Given the description of an element on the screen output the (x, y) to click on. 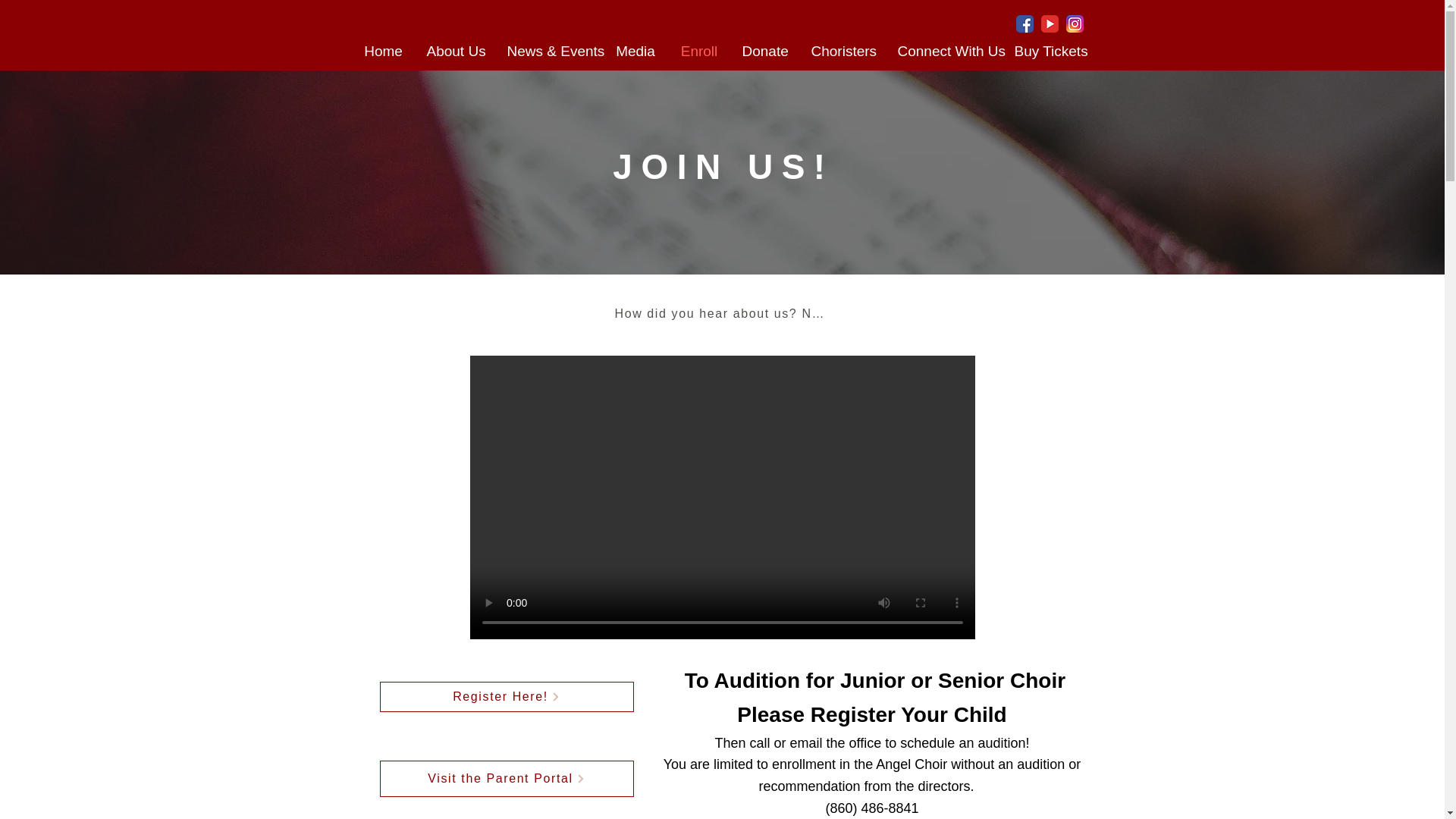
Register Here! (505, 696)
Buy Tickets (1048, 51)
Visit the Parent Portal (505, 778)
About Us (455, 51)
Media (636, 51)
How did you hear about us? NPR? (721, 313)
Choristers (842, 51)
Home (383, 51)
Enroll (698, 51)
Donate (764, 51)
